Given the description of an element on the screen output the (x, y) to click on. 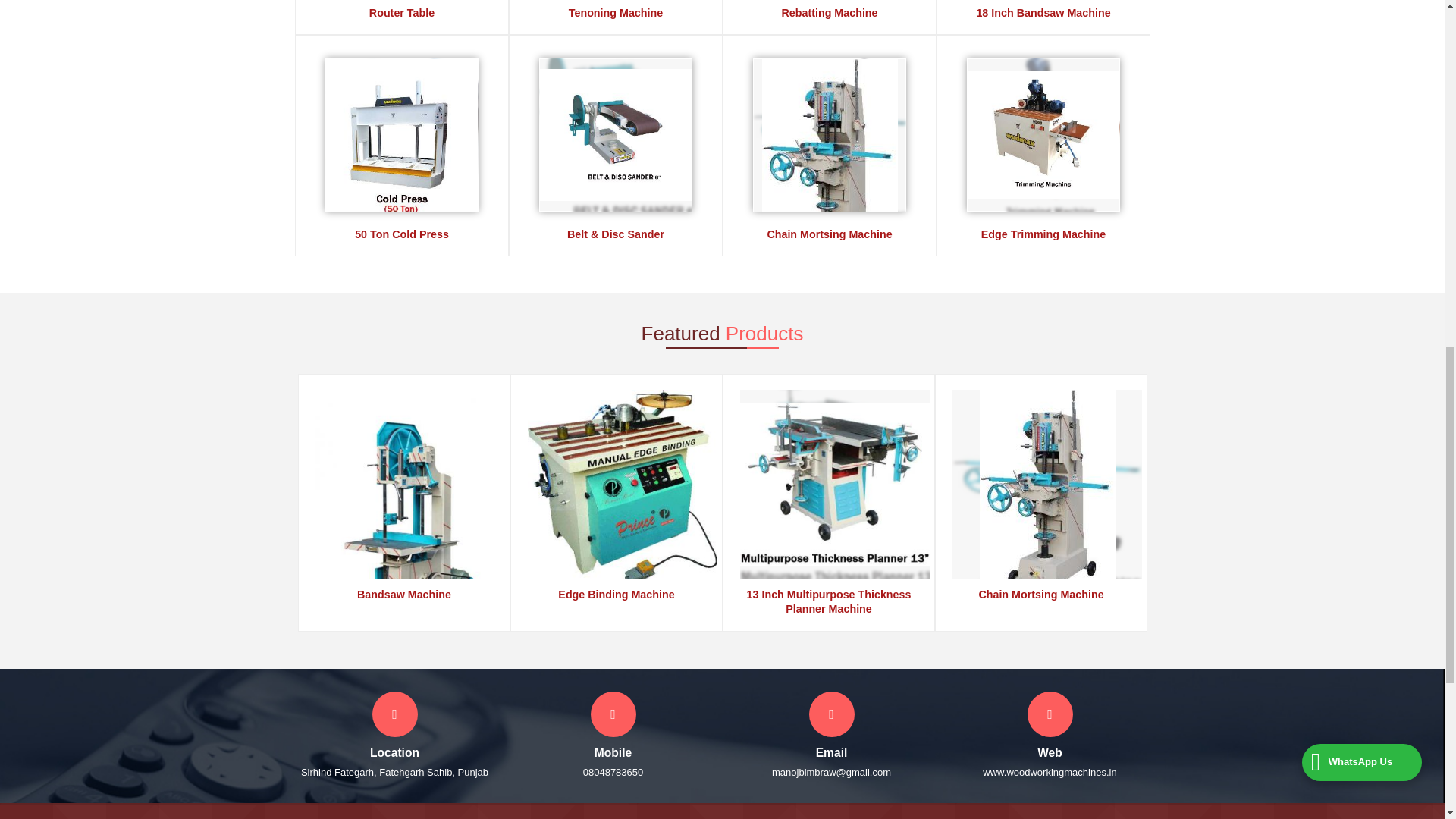
Rebatting Machine (828, 11)
18 Inch Bandsaw Machine (1042, 11)
Router Table (400, 11)
Tenoning Machine (614, 11)
50 Ton Cold Press (401, 233)
Chain Mortsing Machine (829, 233)
Router Table (401, 3)
